Given the description of an element on the screen output the (x, y) to click on. 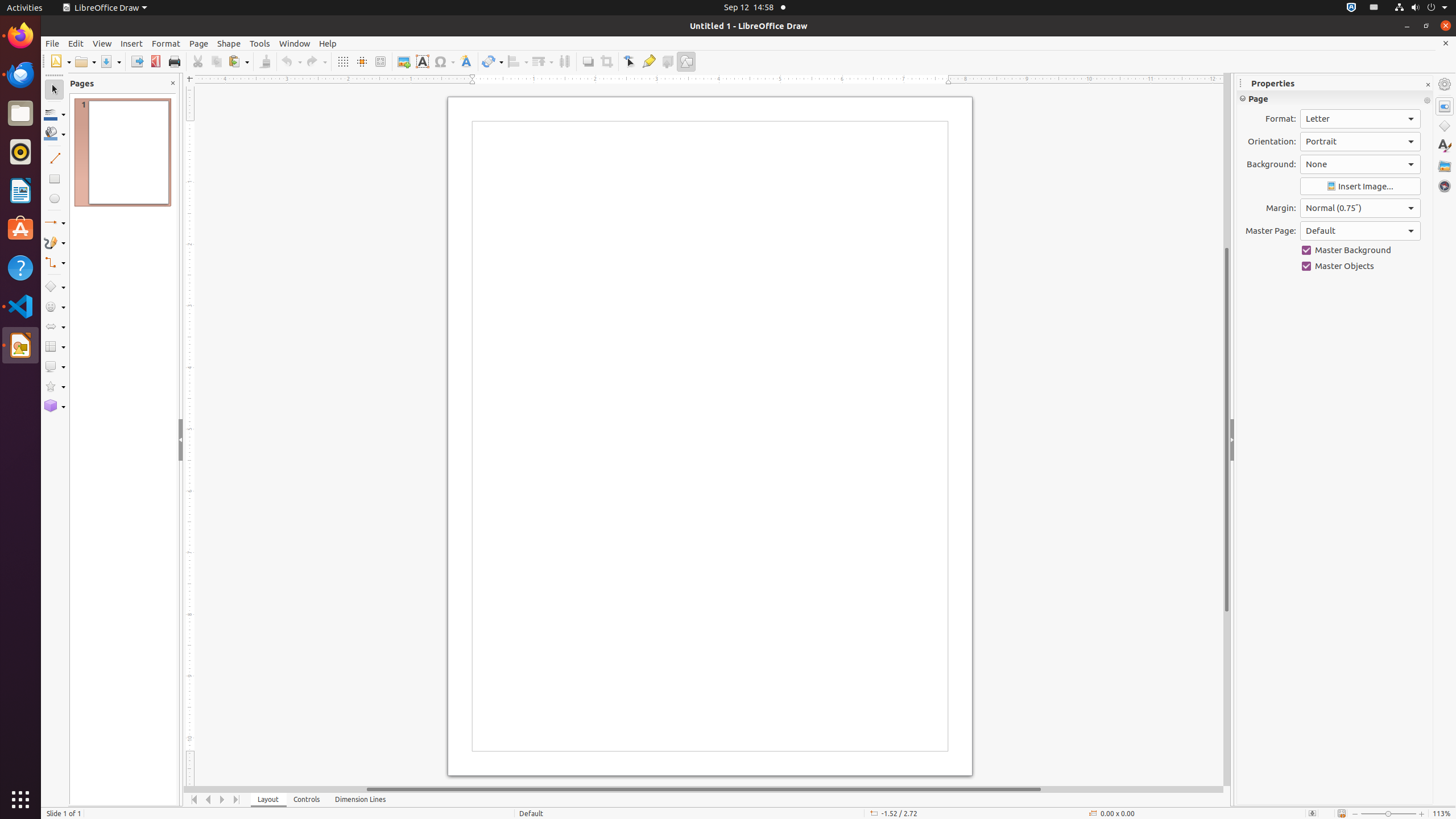
Master Objects Element type: check-box (1360, 265)
Line Element type: push-button (53, 158)
Line Color Element type: push-button (54, 113)
Undo Element type: push-button (290, 61)
Background: Element type: combo-box (1360, 164)
